Given the description of an element on the screen output the (x, y) to click on. 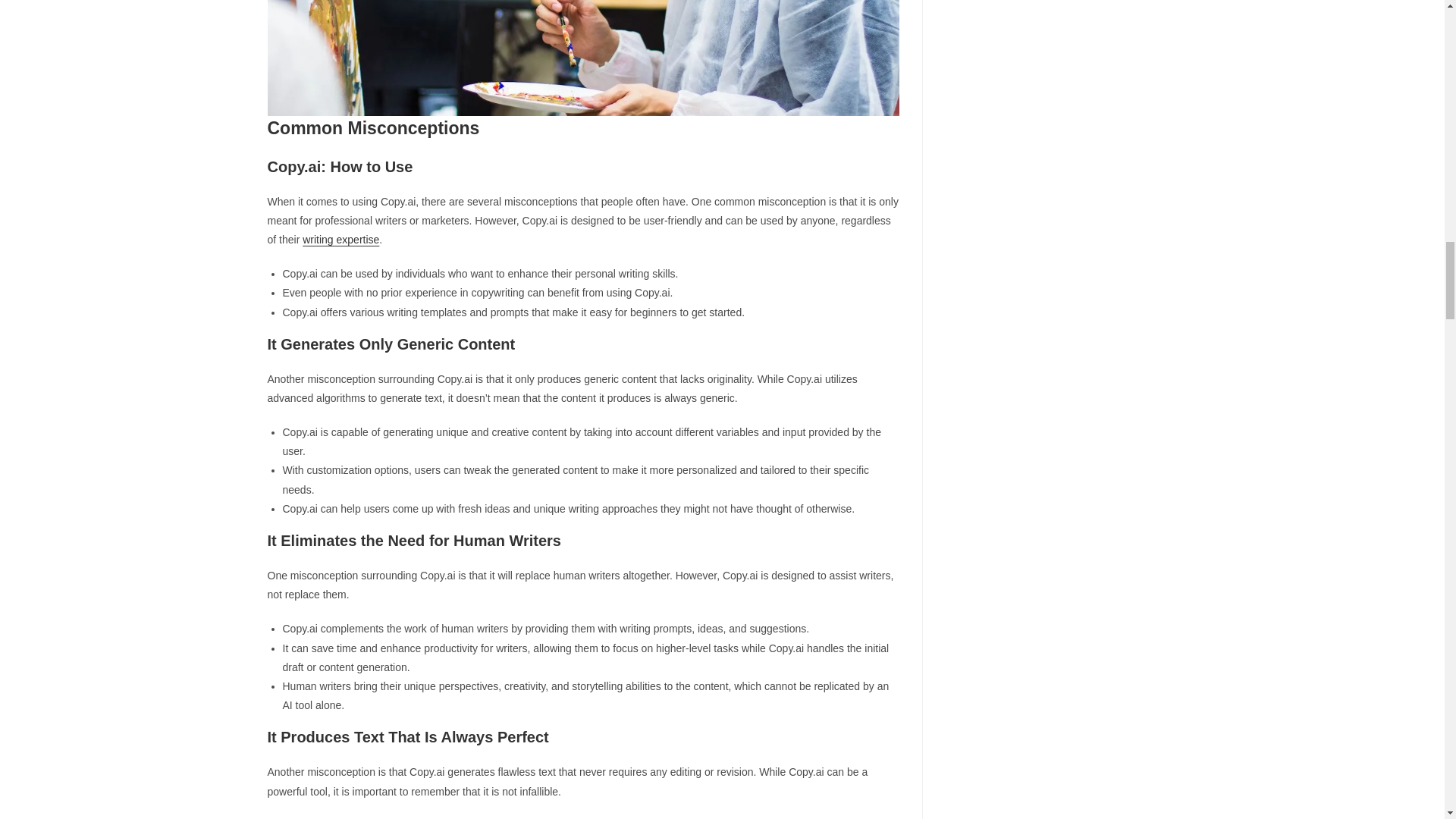
Copy.ai: How to Use (582, 58)
writing expertise (340, 239)
